Given the description of an element on the screen output the (x, y) to click on. 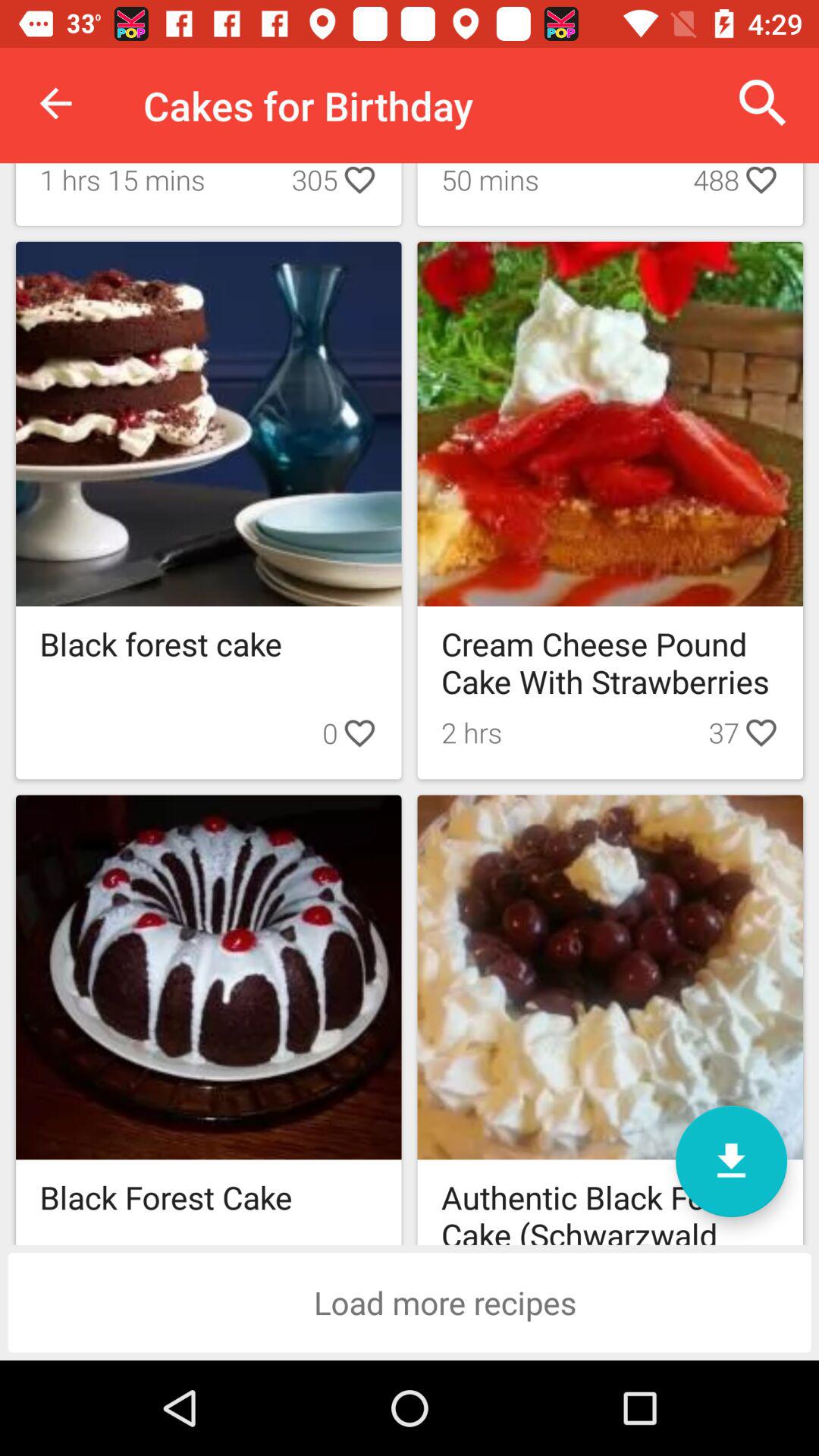
click on icon which is right to 488 (760, 186)
click on the search icon which is at the top right corner of the page (763, 103)
click on load more recipes (409, 1302)
